Given the description of an element on the screen output the (x, y) to click on. 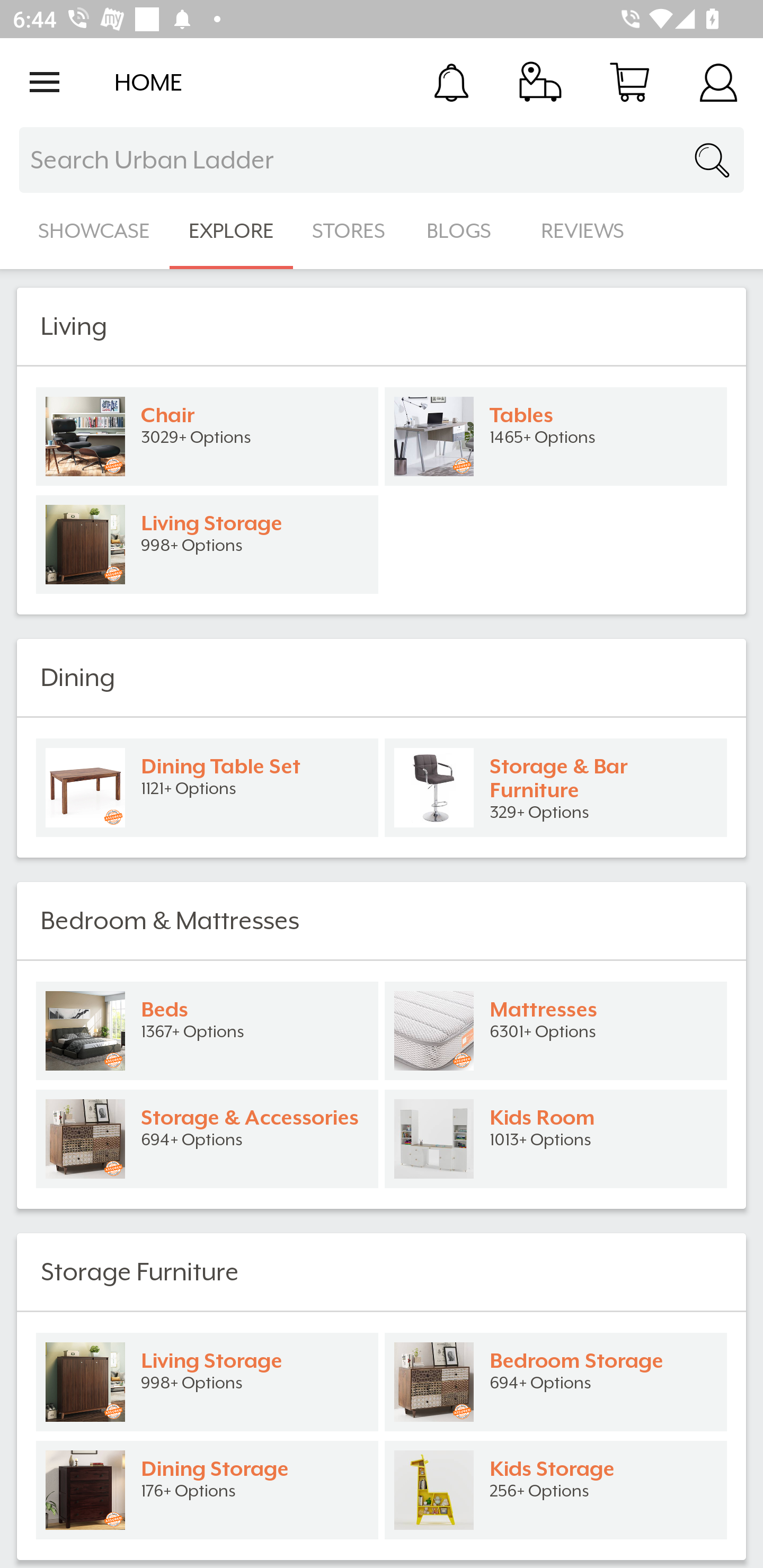
Open navigation drawer (44, 82)
Notification (450, 81)
Track Order (540, 81)
Cart (629, 81)
Account Details (718, 81)
Search Urban Ladder  (381, 159)
SHOWCASE (94, 230)
EXPLORE (230, 230)
STORES (349, 230)
BLOGS (464, 230)
REVIEWS (582, 230)
Chair 3029+ Options (206, 436)
Tables 1465+ Options (555, 436)
Living Storage 998+ Options (206, 544)
Dining Table Set 1121+ Options (206, 787)
Storage & Bar Furniture 329+ Options (555, 787)
Beds 1367+ Options (206, 1030)
Mattresses 6301+ Options (555, 1030)
Storage & Accessories 694+ Options (206, 1139)
Kids Room 1013+ Options (555, 1139)
Living Storage 998+ Options (206, 1382)
Bedroom Storage 694+ Options (555, 1382)
Dining Storage 176+ Options (206, 1490)
Kids Storage 256+ Options (555, 1490)
